Given the description of an element on the screen output the (x, y) to click on. 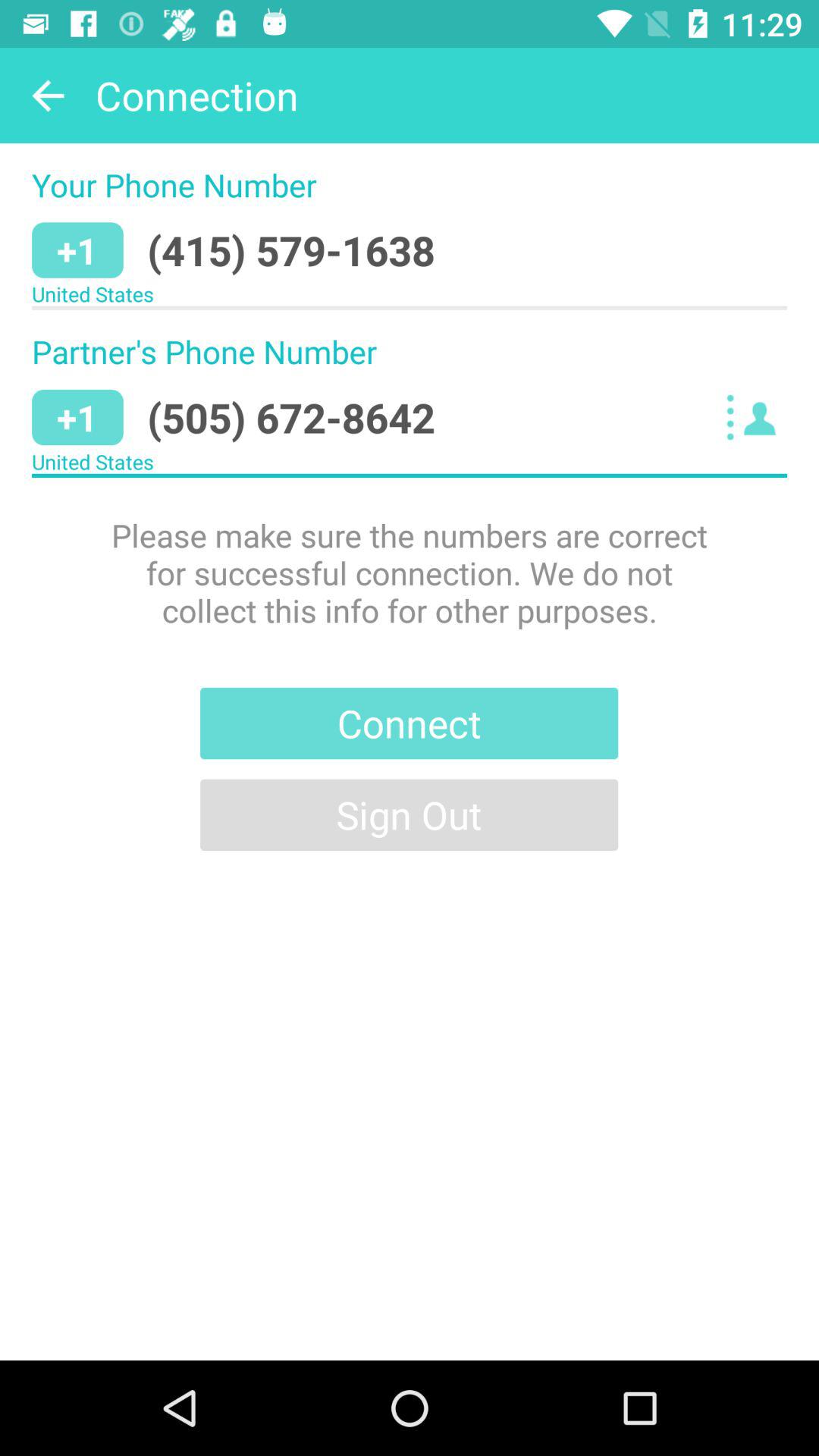
click the (505) 672-8642 item (291, 417)
